Given the description of an element on the screen output the (x, y) to click on. 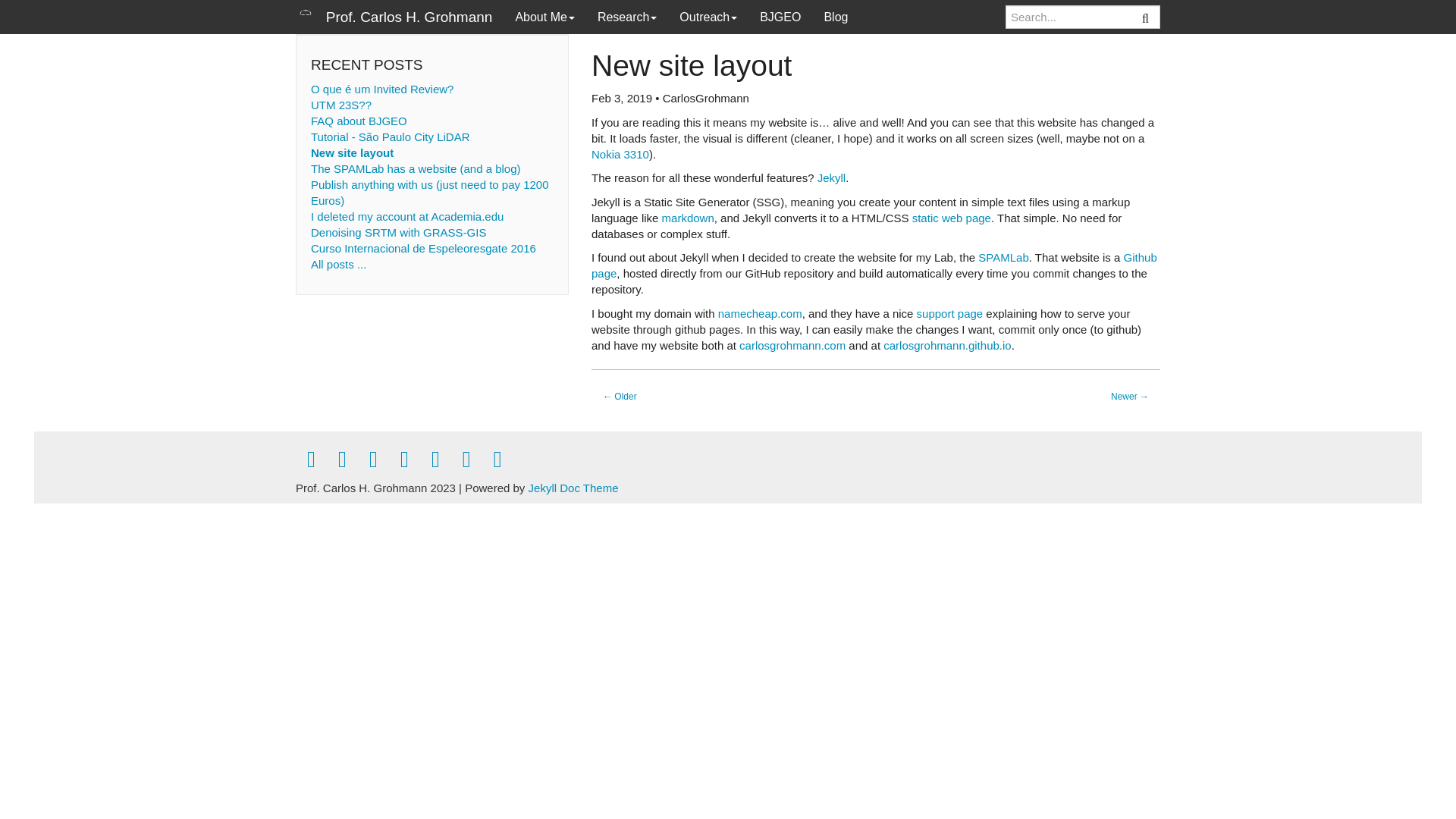
I deleted my account at Academia.edu (407, 215)
Curso Internacional de Espeleoresgate 2016 (423, 247)
FAQ about BJGEO (359, 120)
Jekyll (830, 177)
markdown (688, 217)
UTM 23S?? (341, 104)
New site layout (352, 152)
Nokia 3310 (620, 154)
static web page (951, 217)
carlosgrohmann.github.io (946, 345)
Blog (835, 17)
Outreach (708, 17)
All posts ... (338, 264)
Prof. Carlos H. Grohmann (393, 17)
BJGEO (780, 17)
